Given the description of an element on the screen output the (x, y) to click on. 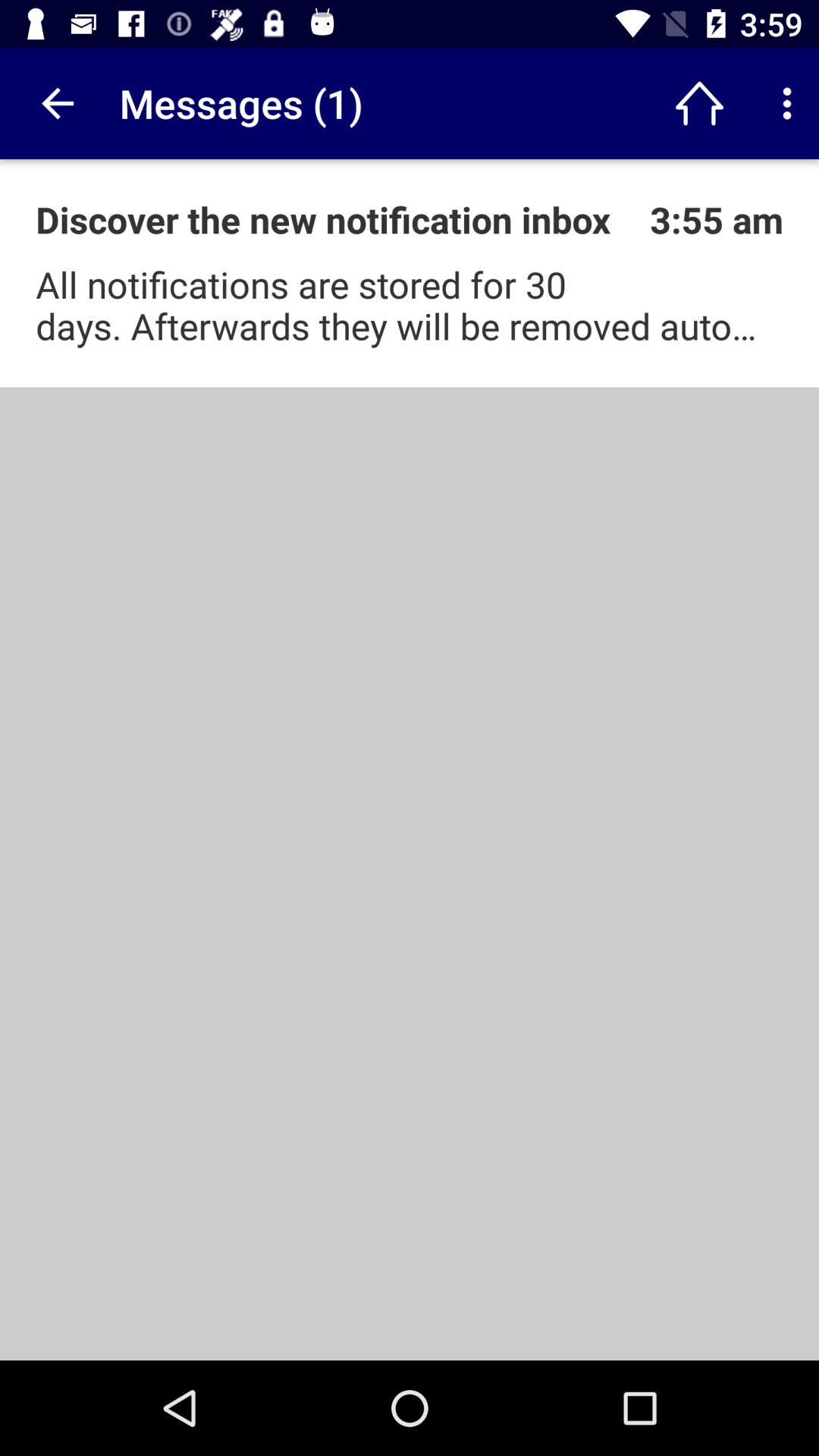
turn off app next to the messages (1) icon (55, 103)
